Given the description of an element on the screen output the (x, y) to click on. 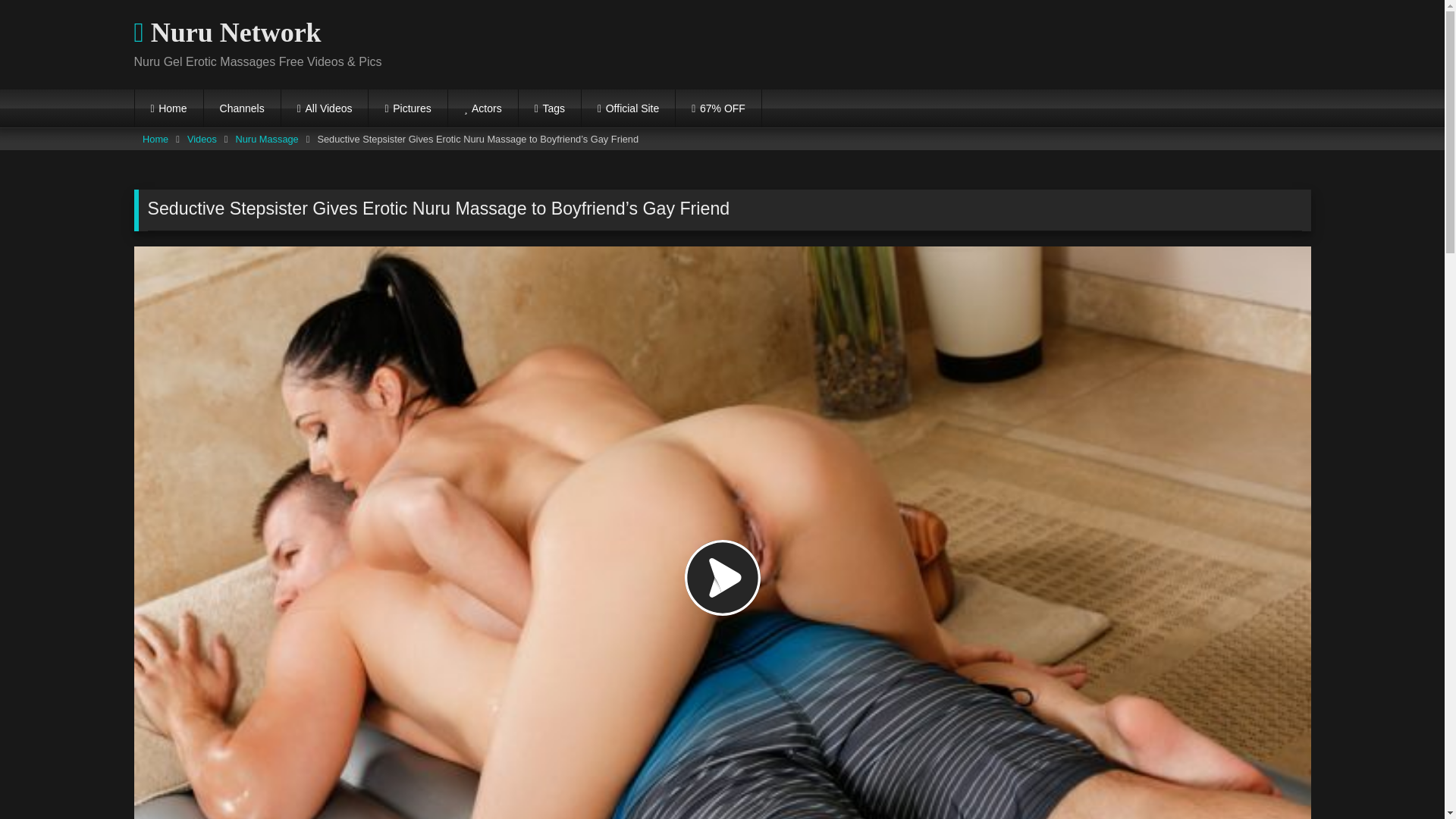
Videos (201, 138)
Official Site (627, 108)
Nuru Network (226, 32)
Actors (483, 108)
Home (169, 108)
Tags (549, 108)
All Videos (324, 108)
Home (155, 138)
Pictures (407, 108)
Channels (242, 108)
